Given the description of an element on the screen output the (x, y) to click on. 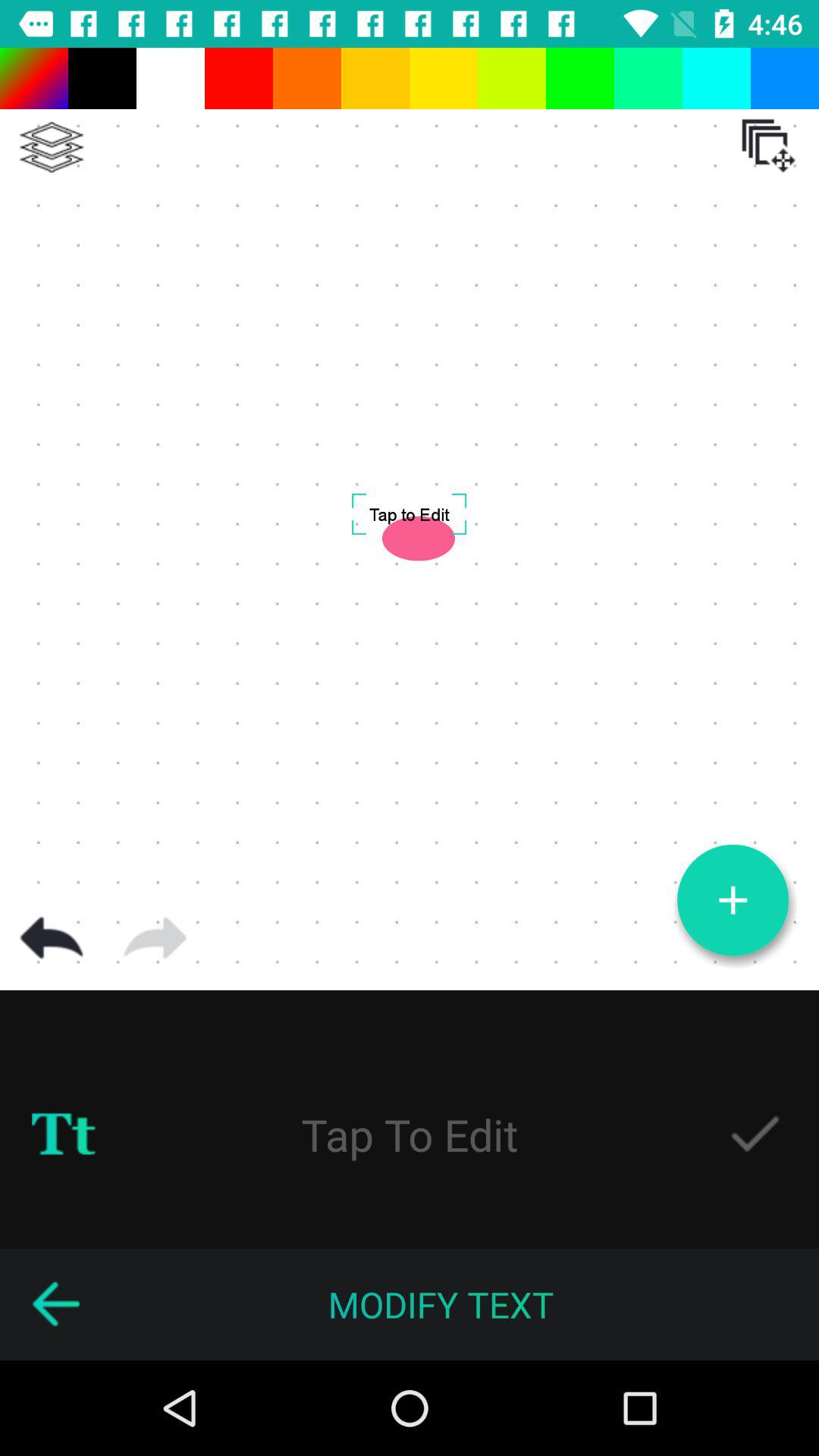
select font (63, 1134)
